Given the description of an element on the screen output the (x, y) to click on. 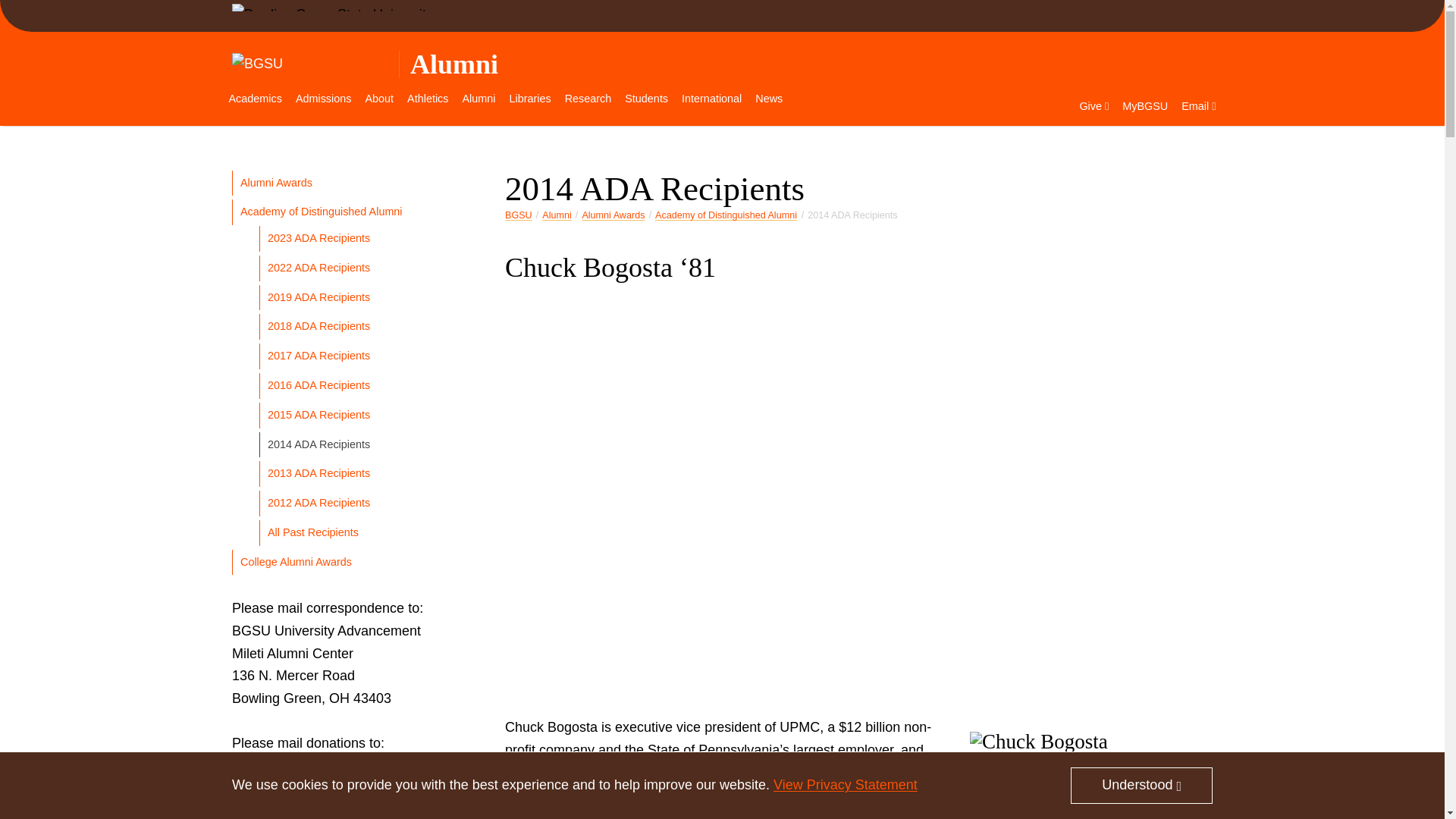
Understood  (1141, 785)
Alumni (453, 64)
Academics (254, 98)
View Privacy Statement (845, 784)
